Given the description of an element on the screen output the (x, y) to click on. 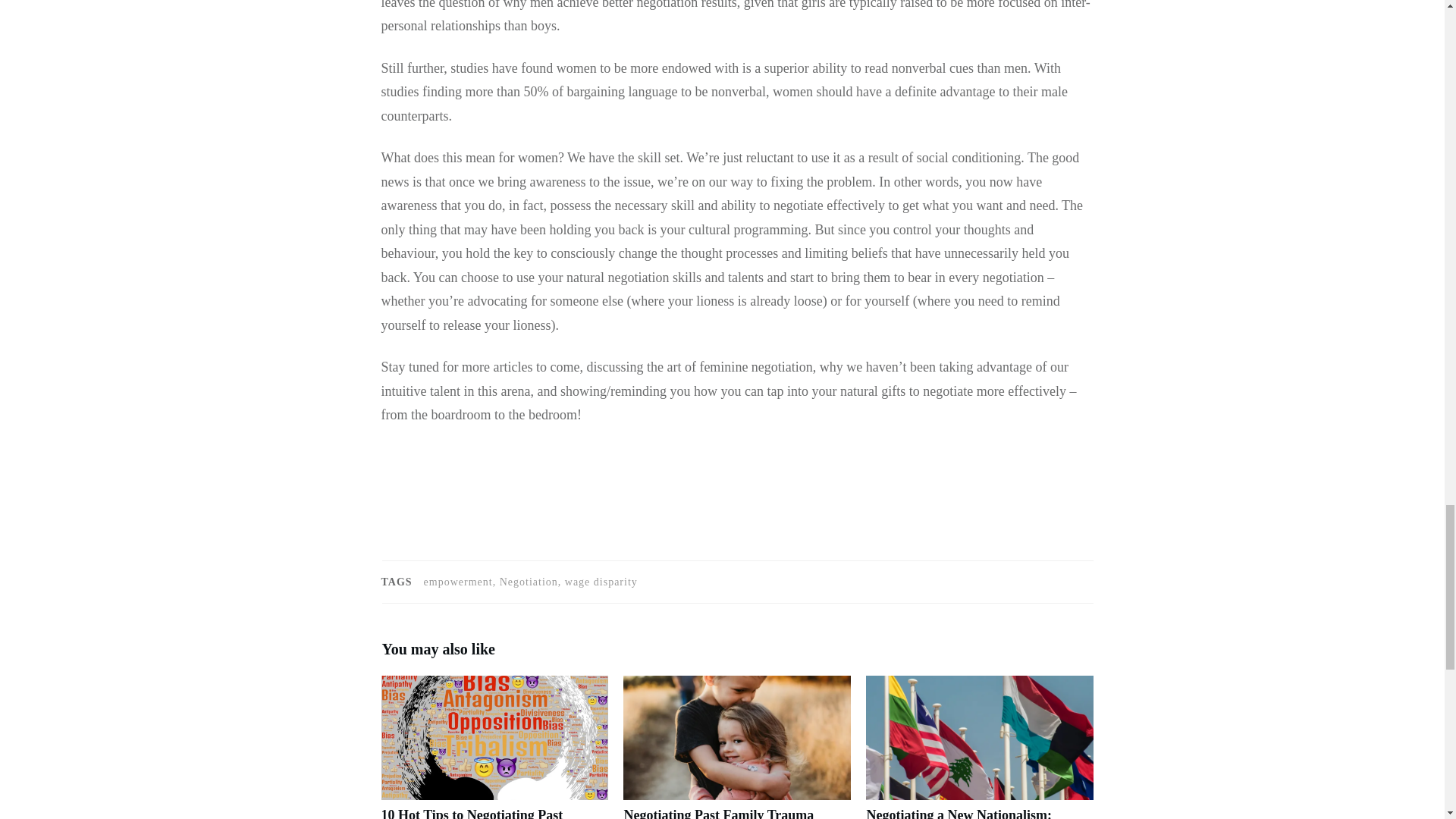
Negotiating Past Family Trauma (718, 813)
Do Men and Women Negotiate Differently (418, 491)
